Given the description of an element on the screen output the (x, y) to click on. 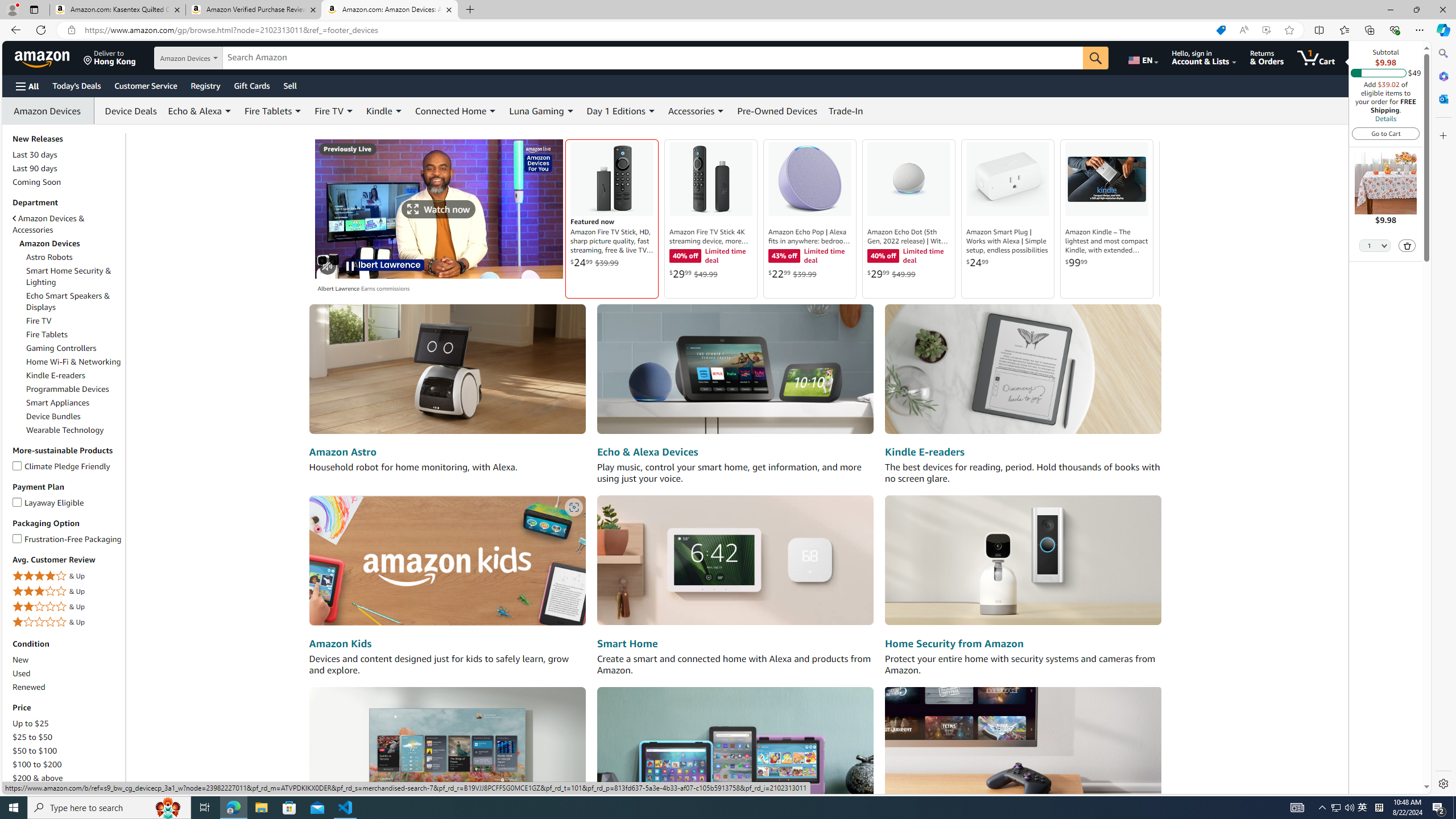
Home Security devices (1022, 560)
1 Star & Up (67, 621)
4 Stars & Up (67, 576)
Expand Fire Tablets (298, 111)
Luna Gaming (536, 110)
Connected Home (450, 110)
$200 & above (67, 777)
Accessories (697, 110)
Today's Deals (76, 85)
Renewed (29, 687)
Climate Pledge Friendly Climate Pledge Friendly (61, 465)
Home Security from Amazon (953, 643)
